Given the description of an element on the screen output the (x, y) to click on. 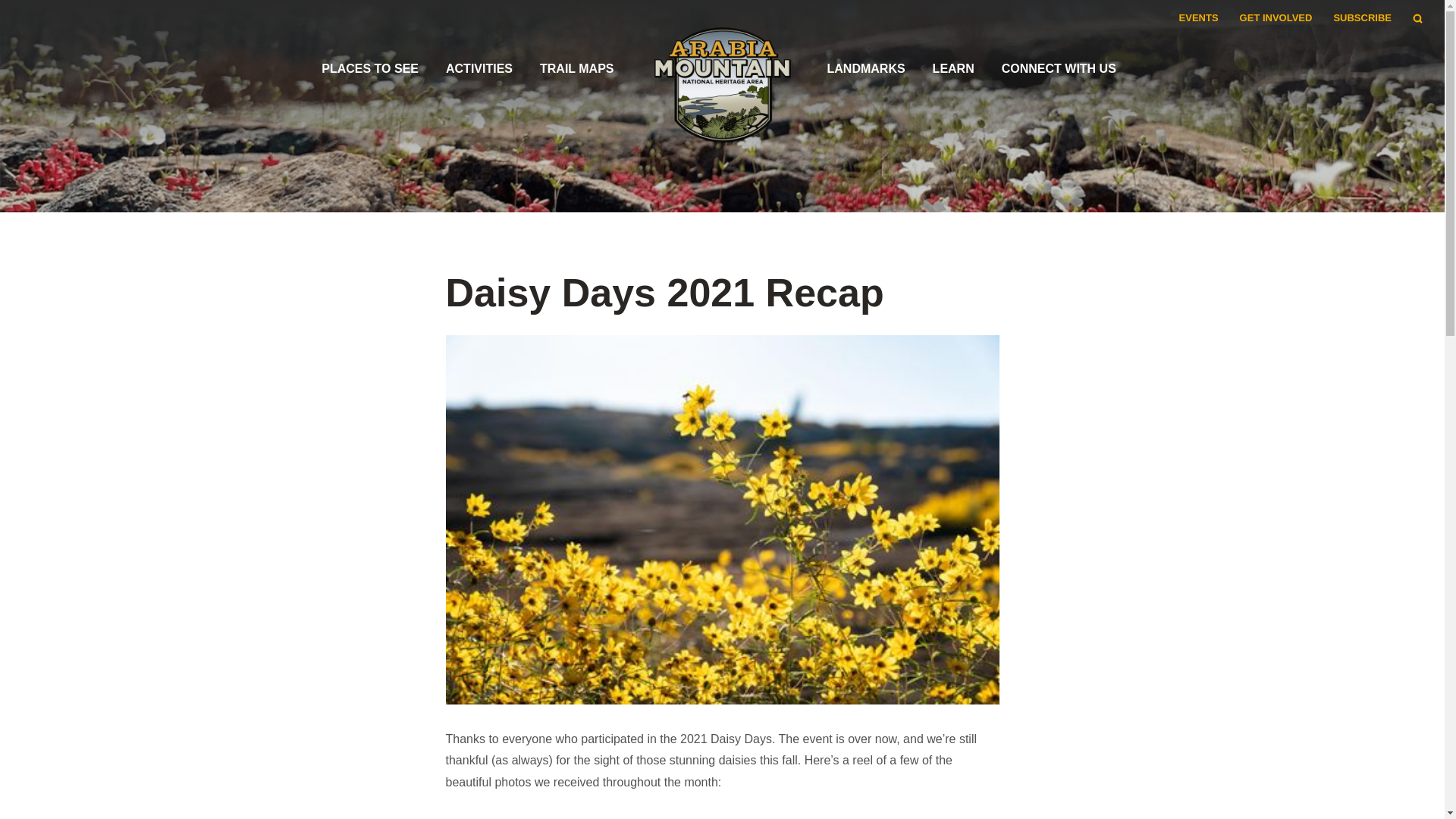
EVENTS (1198, 17)
SUBSCRIBE (1362, 17)
SEARCH (1417, 18)
PLACES TO SEE (369, 68)
ACTIVITIES (478, 68)
Arabia Mountain Heritage Area Alliance (721, 95)
GET INVOLVED (1275, 17)
YouTube video player (721, 815)
